Given the description of an element on the screen output the (x, y) to click on. 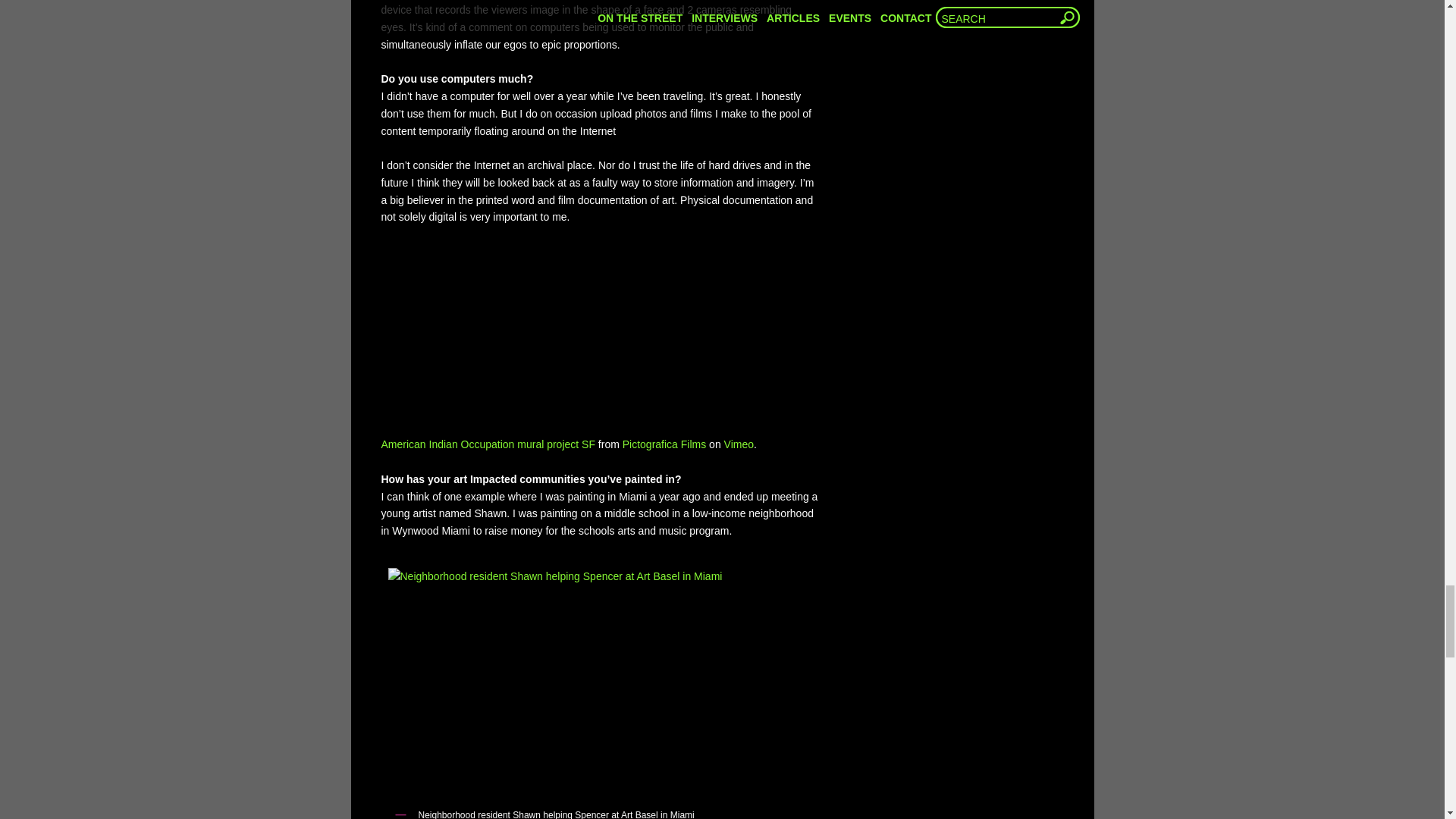
Vimeo (738, 444)
Pictografica Films (664, 444)
American Indian Occupation mural project SF (487, 444)
